Given the description of an element on the screen output the (x, y) to click on. 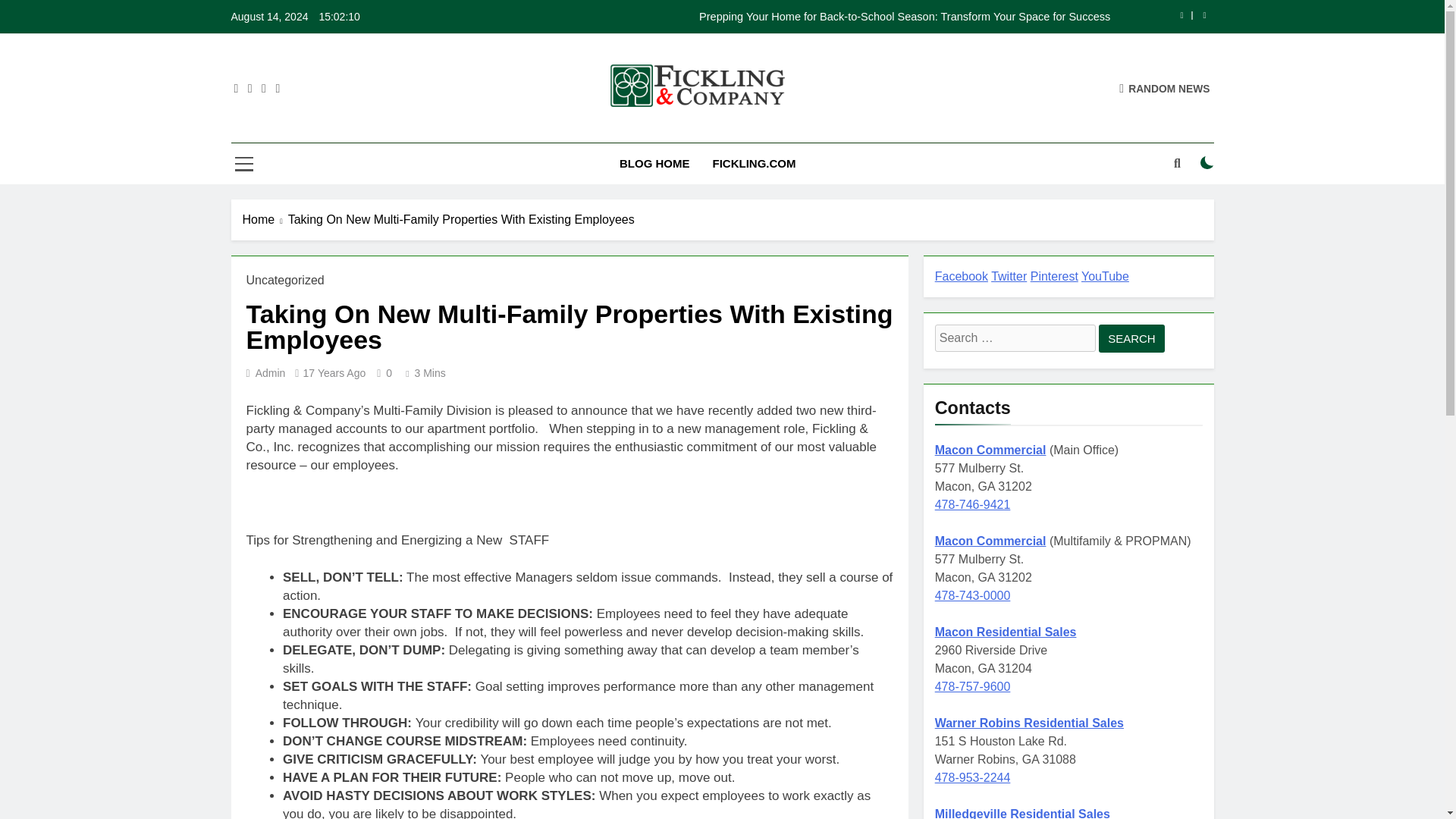
RANDOM NEWS (1164, 88)
Search (1131, 338)
FICKLING.COM (753, 163)
Search (1131, 338)
BLOG HOME (654, 163)
Home (265, 219)
on (1206, 162)
